Given the description of an element on the screen output the (x, y) to click on. 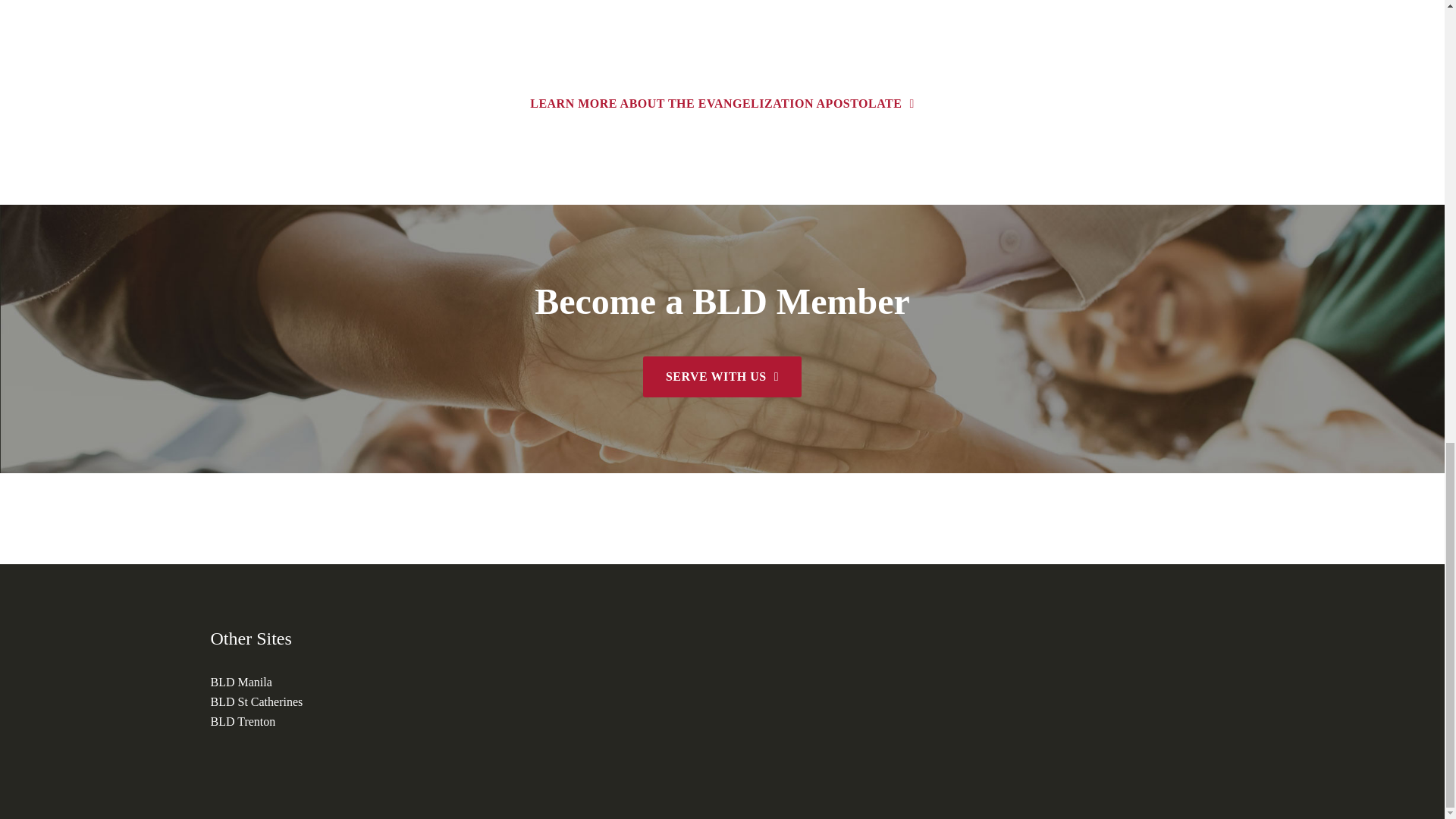
BLD Manila (241, 681)
SERVE WITH US (722, 376)
LEARN MORE ABOUT THE EVANGELIZATION APOSTOLATE (721, 103)
BLD St Catherines (256, 701)
Contact (721, 103)
BLD Trenton (243, 721)
